Given the description of an element on the screen output the (x, y) to click on. 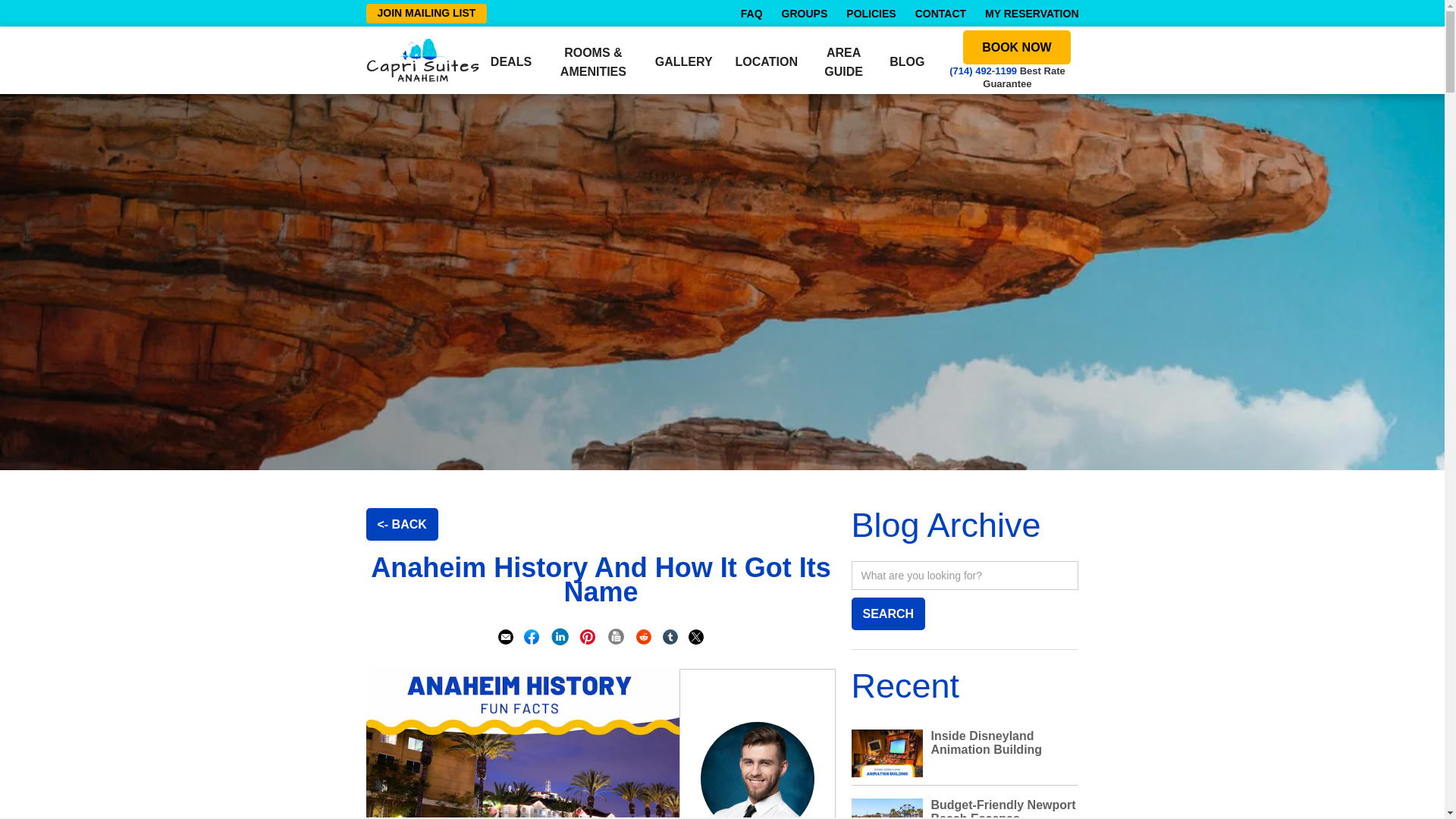
DEALS (510, 60)
GALLERY (683, 60)
CONTACT (940, 13)
AREA GUIDE (843, 60)
LOCATION (766, 60)
BOOK NOW (1016, 47)
MY RESERVATION (1031, 13)
GROUPS (804, 13)
JOIN MAILING LIST (425, 13)
BLOG (906, 60)
POLICIES (870, 13)
FAQ (751, 13)
Search (887, 613)
